Given the description of an element on the screen output the (x, y) to click on. 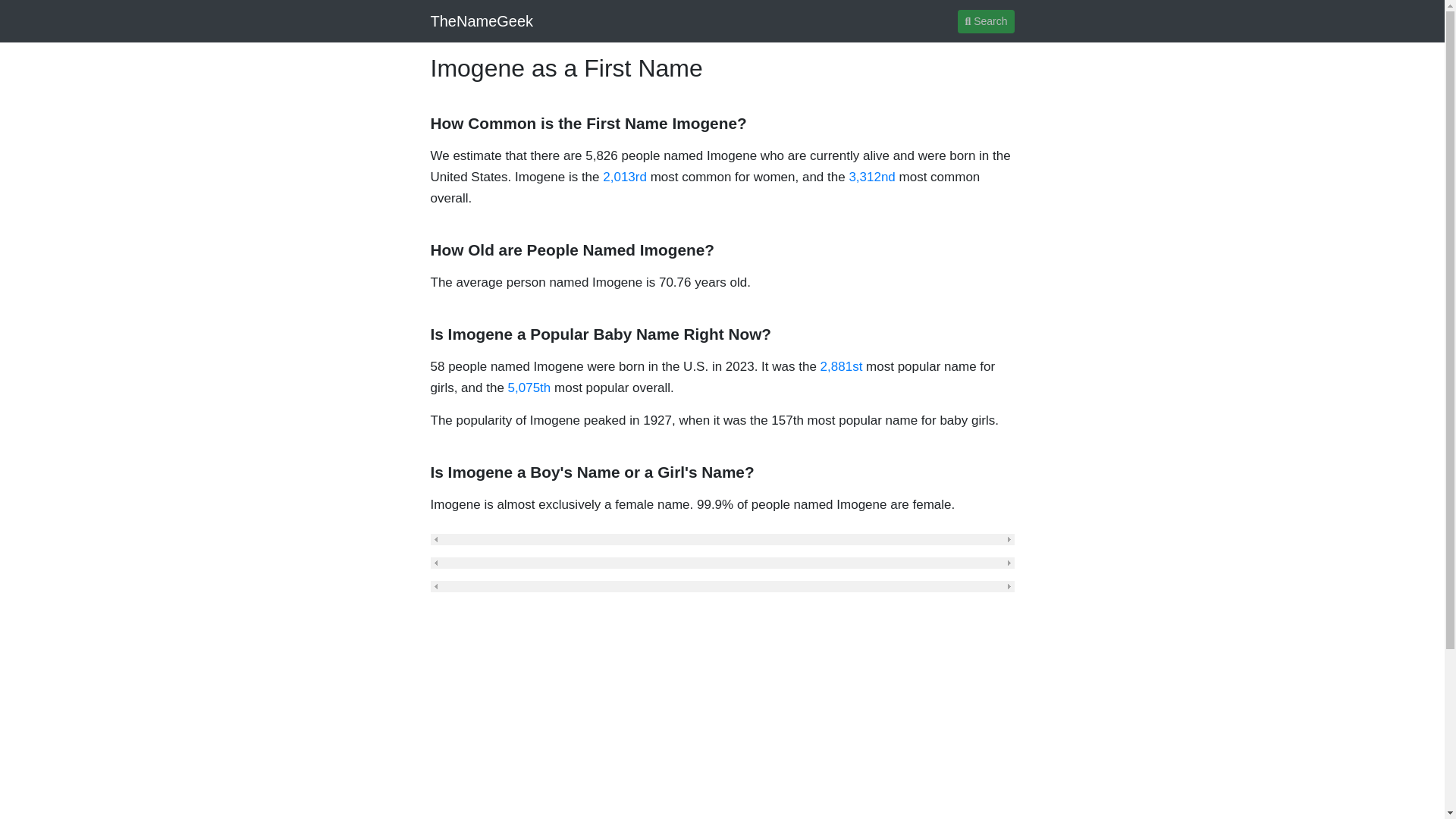
2,013rd (624, 176)
5,075th (529, 387)
2,881st (842, 366)
Search (985, 20)
3,312nd (871, 176)
TheNameGeek (482, 20)
